Given the description of an element on the screen output the (x, y) to click on. 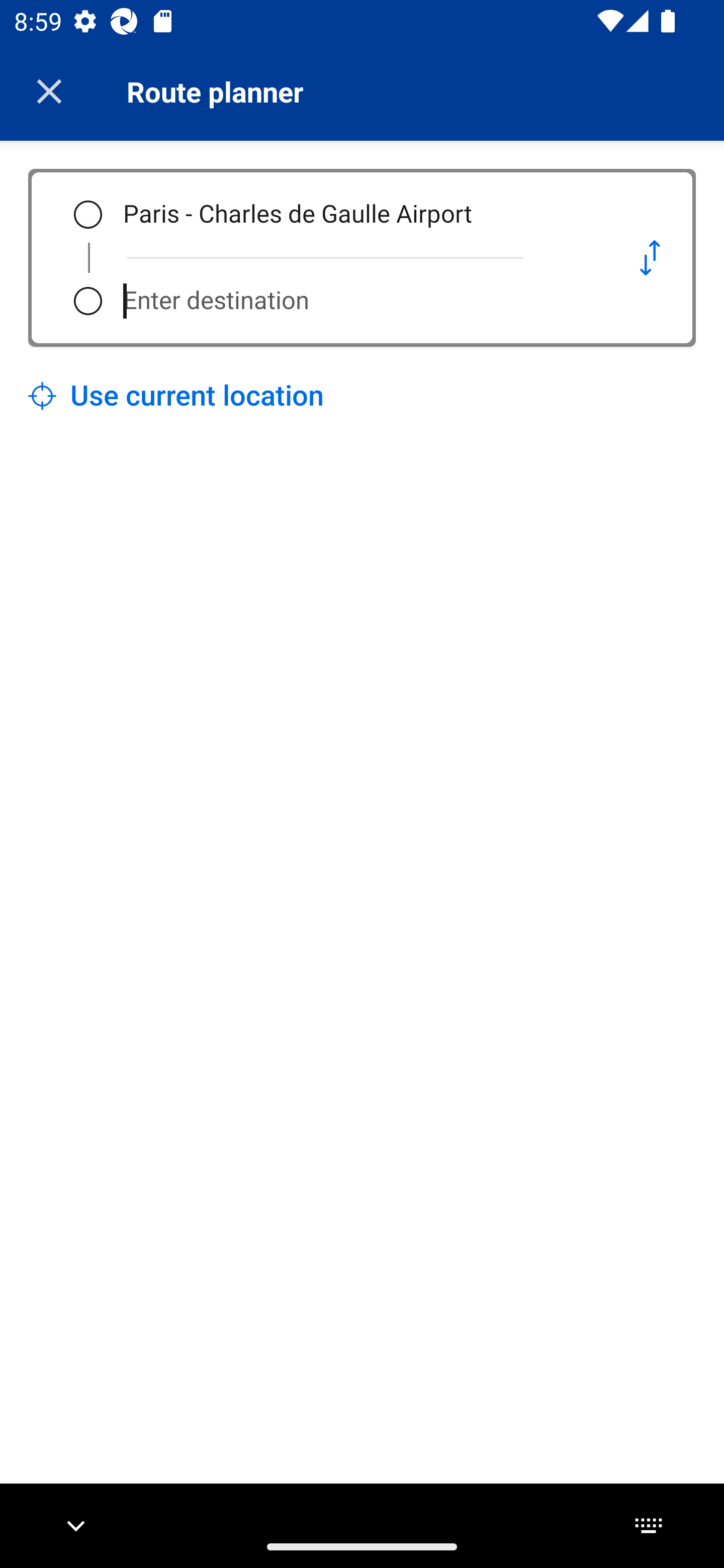
Close (49, 91)
Paris - Charles de Gaulle Airport (355, 214)
Swap pick-up location and destination (650, 257)
Enter destination (355, 300)
Use current location (176, 395)
